Given the description of an element on the screen output the (x, y) to click on. 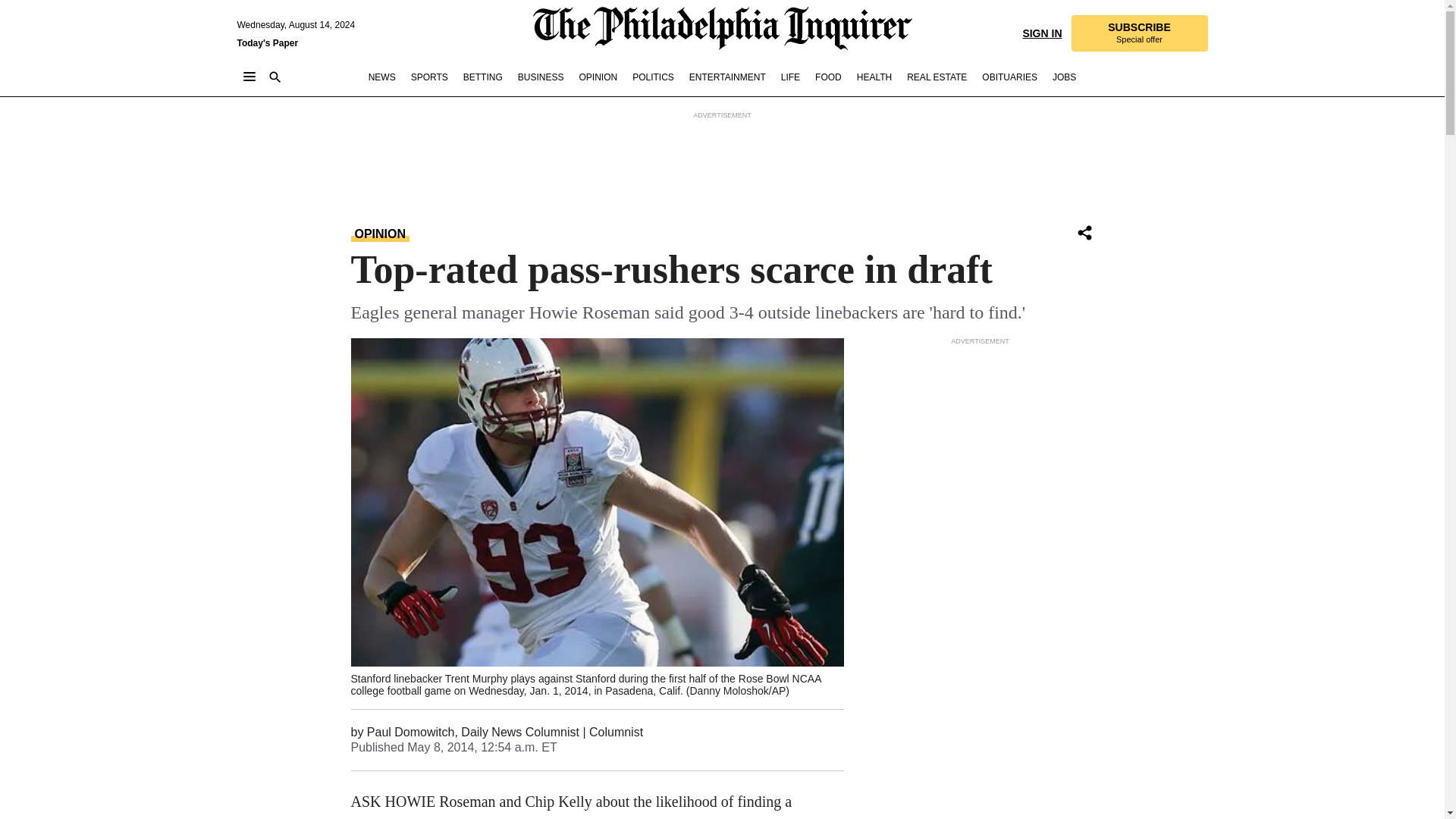
Share Icon (1084, 232)
SIGN IN (1041, 32)
JOBS (1063, 77)
POLITICS (652, 77)
LIFE (789, 77)
Share Icon (1084, 233)
OPINION (597, 77)
BETTING (482, 77)
ENTERTAINMENT (726, 77)
HEALTH (874, 77)
